Given the description of an element on the screen output the (x, y) to click on. 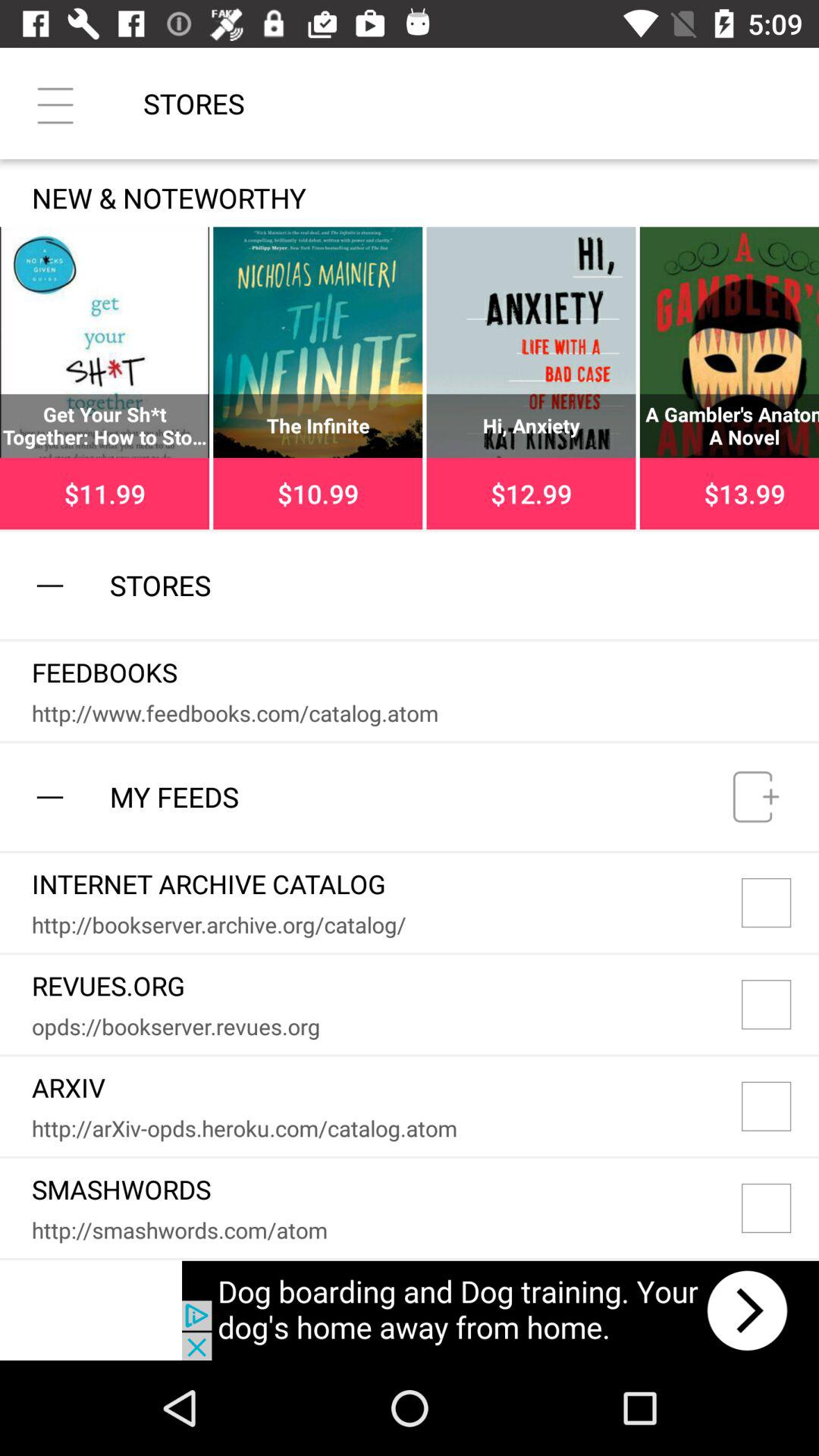
advertisement (500, 1310)
